Given the description of an element on the screen output the (x, y) to click on. 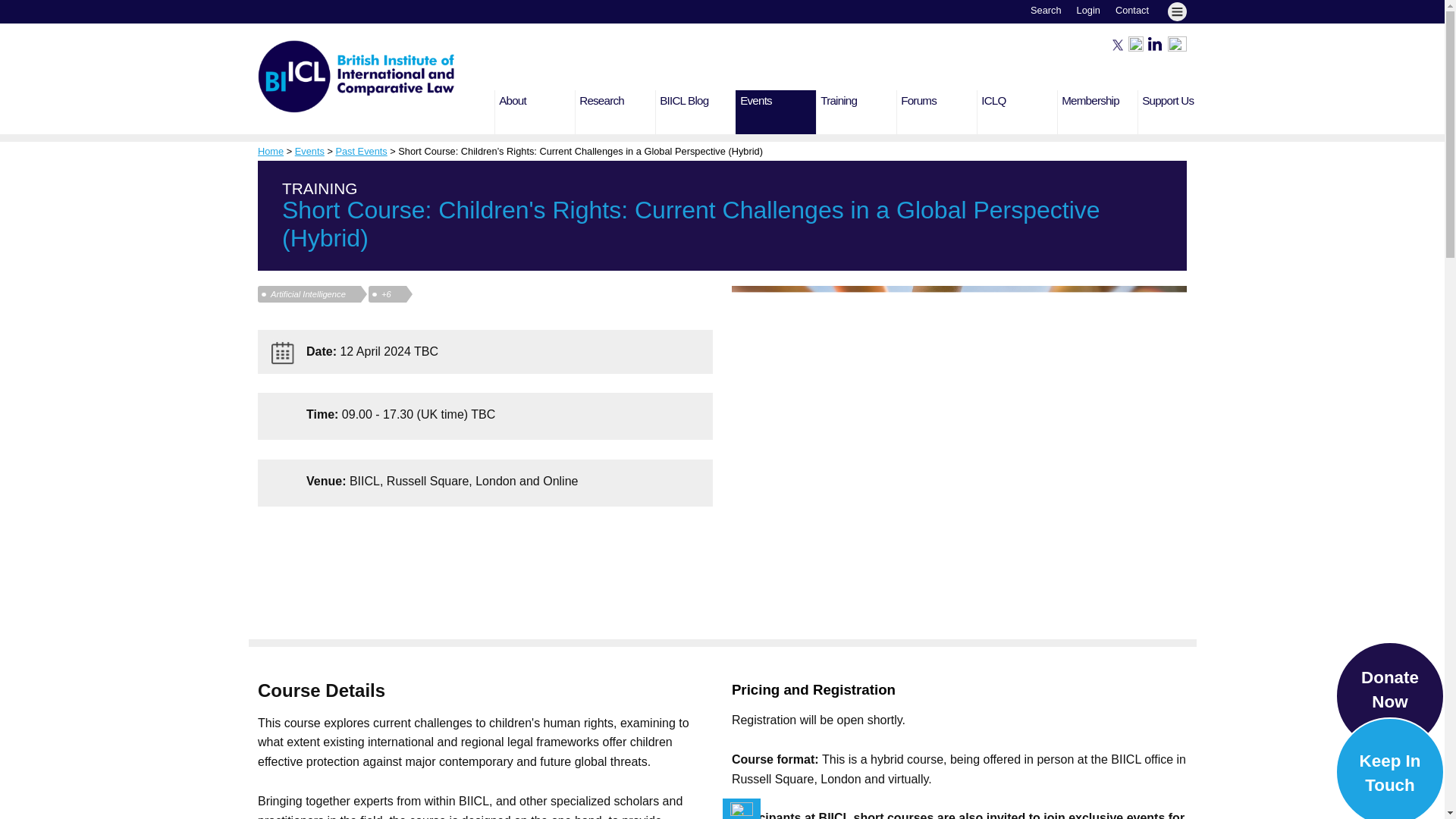
BIICL Blog (697, 112)
BIICL Blog (697, 112)
Login (1088, 9)
ICLQ (1018, 112)
Research (617, 112)
Training (857, 112)
Search (1045, 9)
Search (1045, 9)
Contact (1131, 9)
Research (617, 112)
